Given the description of an element on the screen output the (x, y) to click on. 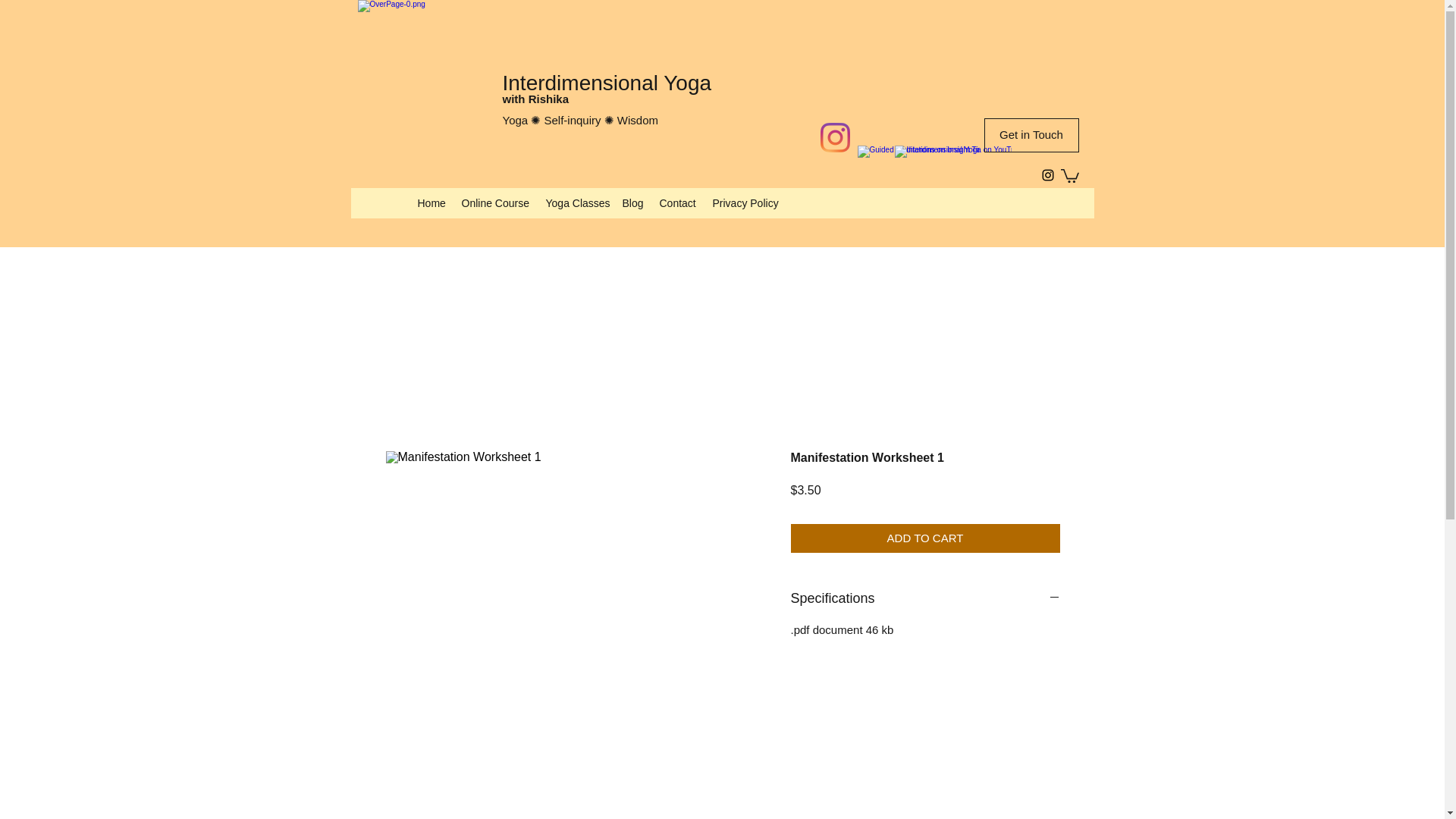
Home (430, 202)
Blog (632, 202)
Contact (678, 202)
Online Course (494, 202)
Privacy Policy (742, 202)
Specifications (924, 598)
ADD TO CART (924, 538)
Get in Touch (1031, 134)
Yoga Classes (576, 202)
